Given the description of an element on the screen output the (x, y) to click on. 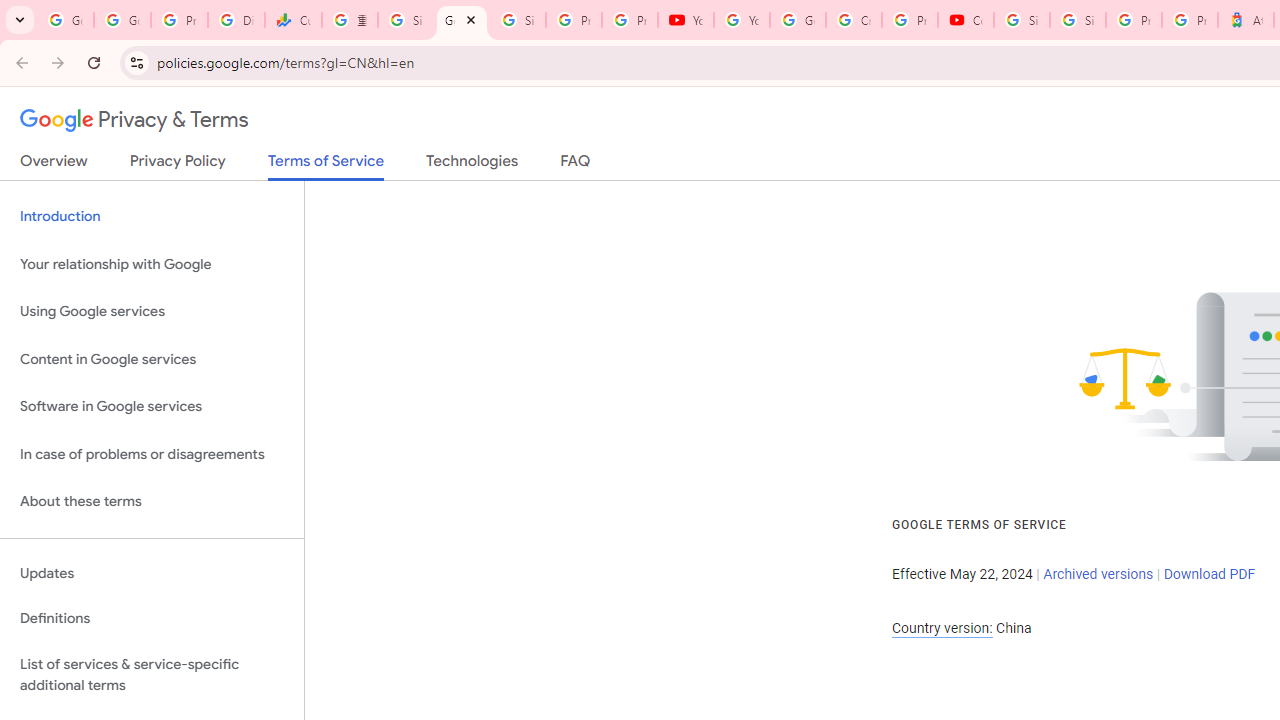
Overview (54, 165)
Create your Google Account (853, 20)
Privacy Policy (177, 165)
YouTube (685, 20)
Archived versions (1098, 574)
Using Google services (152, 312)
Privacy & Terms (134, 120)
Currencies - Google Finance (293, 20)
Updates (152, 573)
